Given the description of an element on the screen output the (x, y) to click on. 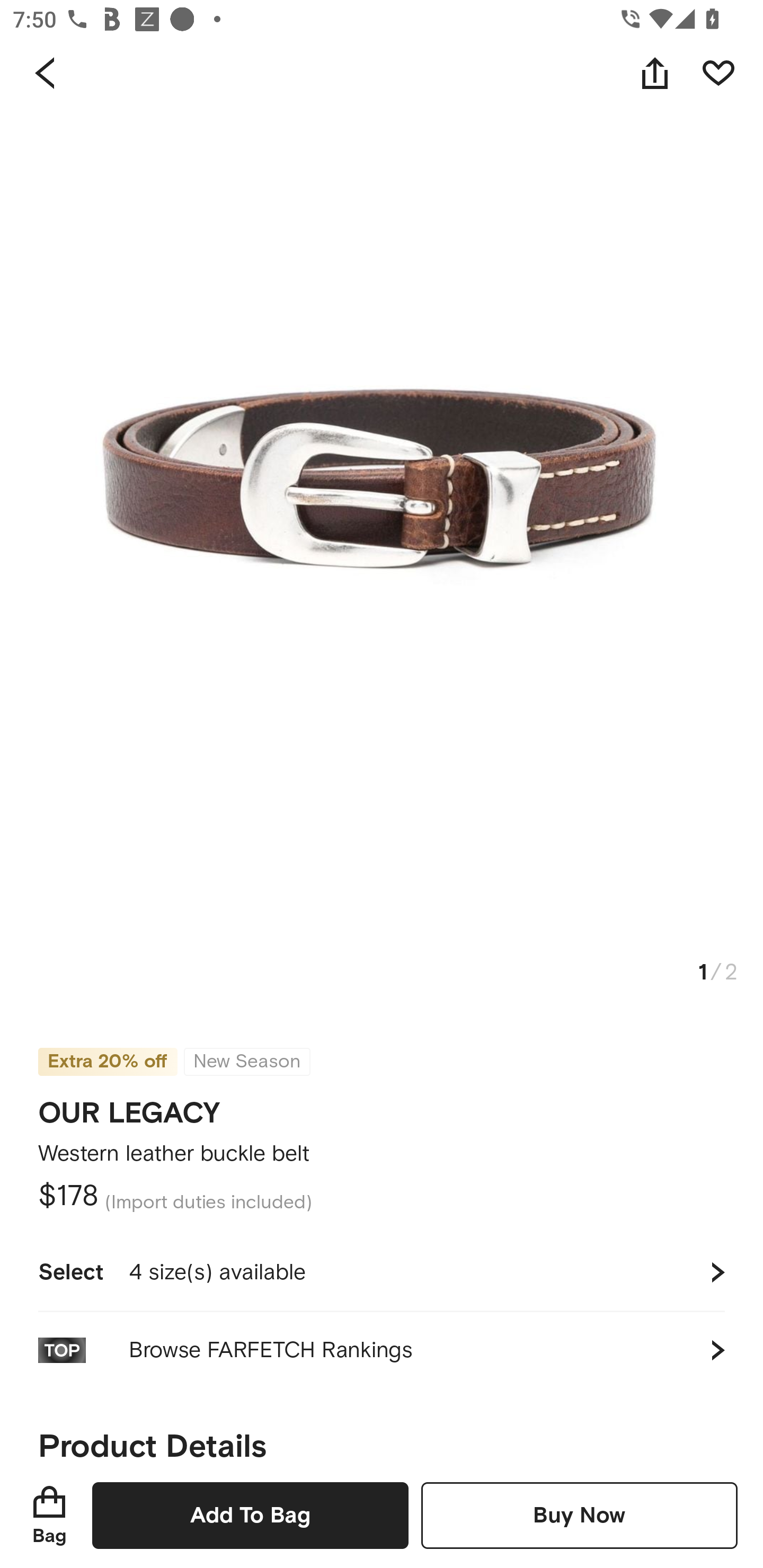
Extra 20% off (107, 1049)
OUR LEGACY (129, 1107)
Select 4 size(s) available (381, 1272)
Browse FARFETCH Rankings (381, 1349)
Bag (49, 1515)
Add To Bag (250, 1515)
Buy Now (579, 1515)
